Given the description of an element on the screen output the (x, y) to click on. 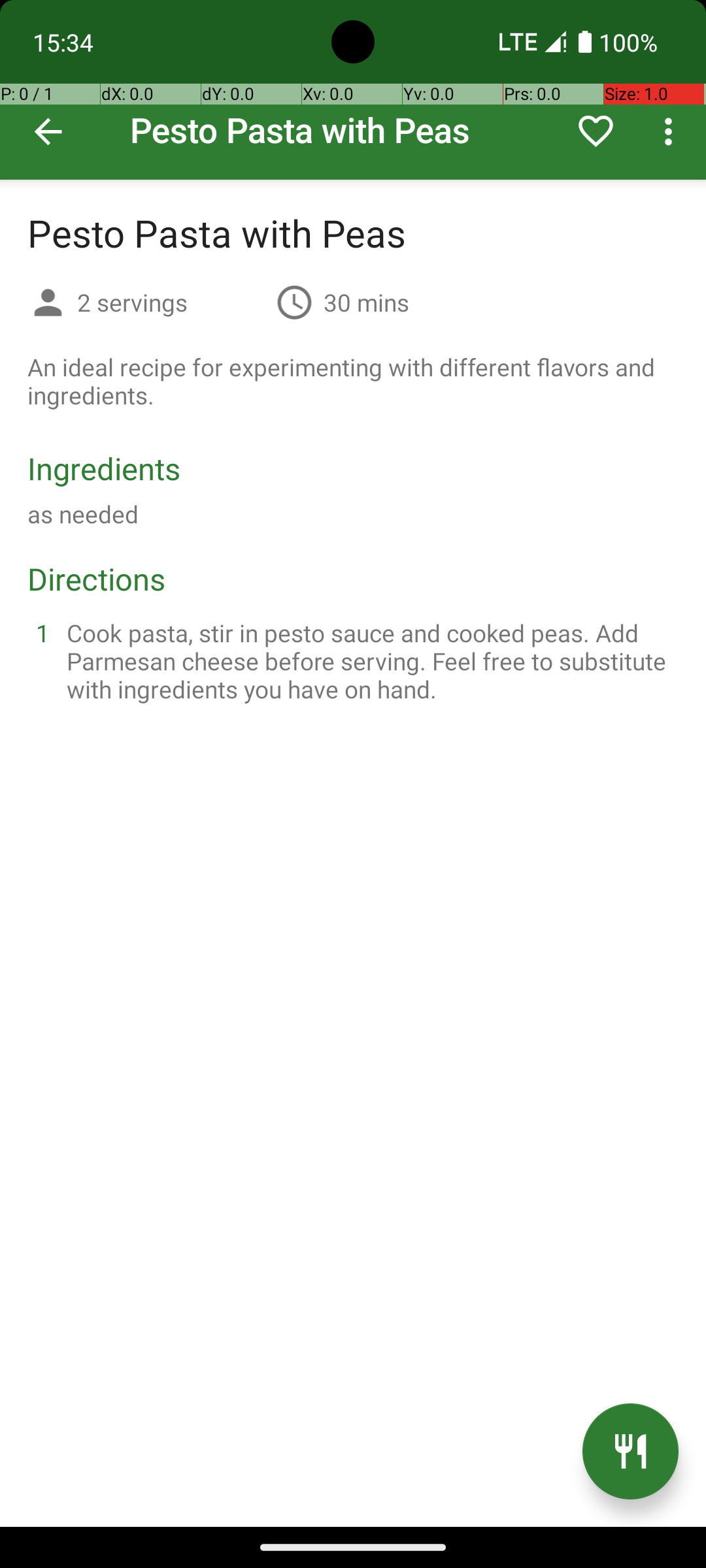
Cook pasta, stir in pesto sauce and cooked peas. Add Parmesan cheese before serving. Feel free to substitute with ingredients you have on hand. Element type: android.widget.TextView (368, 660)
